Given the description of an element on the screen output the (x, y) to click on. 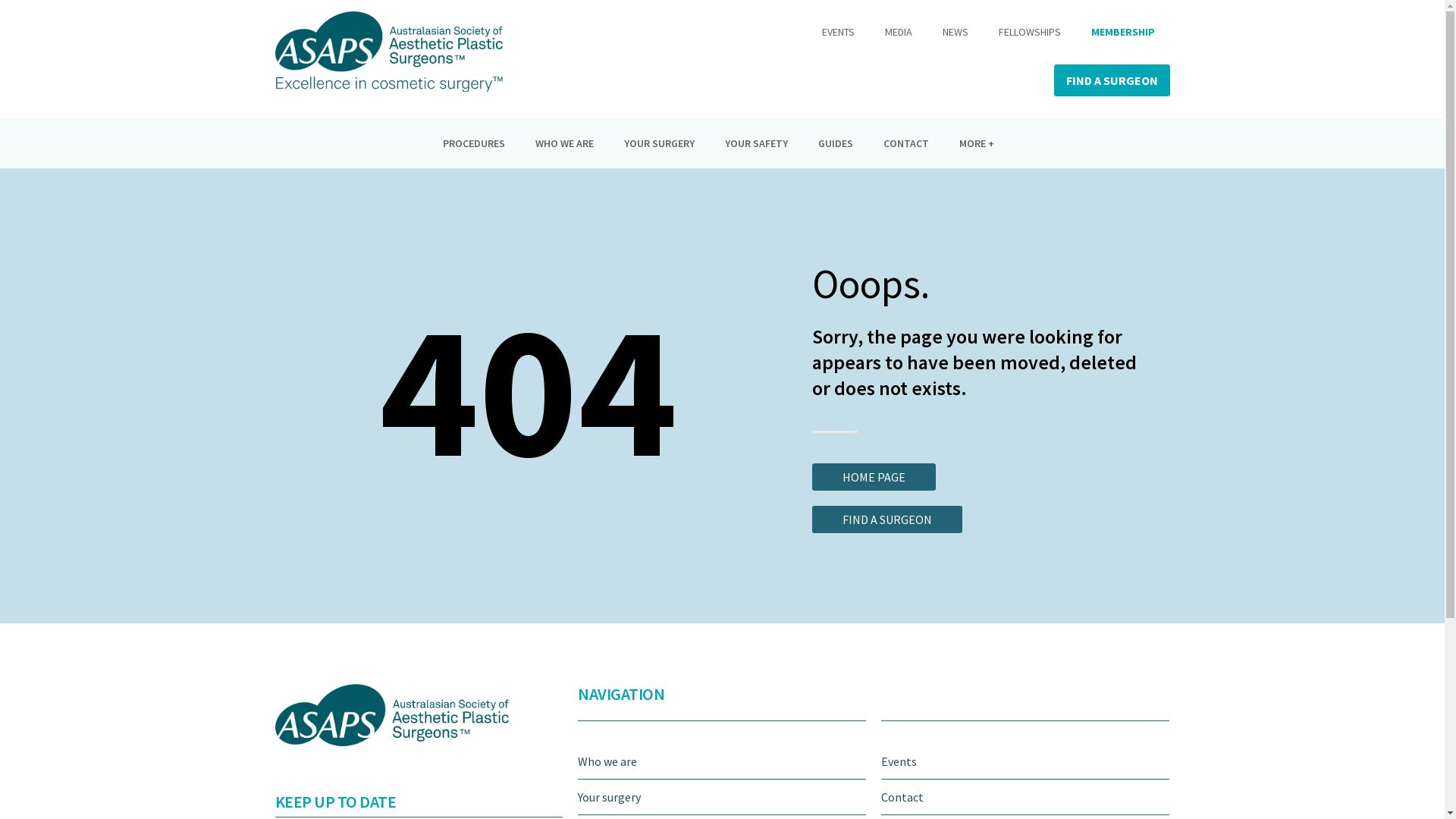
WHO WE ARE Element type: text (564, 142)
ASAPS_logo Element type: hover (388, 51)
FIND A SURGEON Element type: text (1112, 80)
EVENTS Element type: text (837, 31)
MORE + Element type: text (980, 142)
Who we are Element type: text (721, 760)
FELLOWSHIPS Element type: text (1028, 31)
GUIDES Element type: text (835, 142)
Events Element type: text (1025, 760)
HOME PAGE Element type: text (873, 476)
PROCEDURES Element type: text (473, 142)
NEWS Element type: text (954, 31)
MEDIA Element type: text (897, 31)
MEMBERSHIP Element type: text (1122, 31)
YOUR SAFETY Element type: text (756, 142)
Contact Element type: text (1025, 797)
YOUR SURGERY Element type: text (658, 142)
CONTACT Element type: text (906, 142)
Your surgery Element type: text (721, 797)
FIND A SURGEON Element type: text (887, 519)
